Given the description of an element on the screen output the (x, y) to click on. 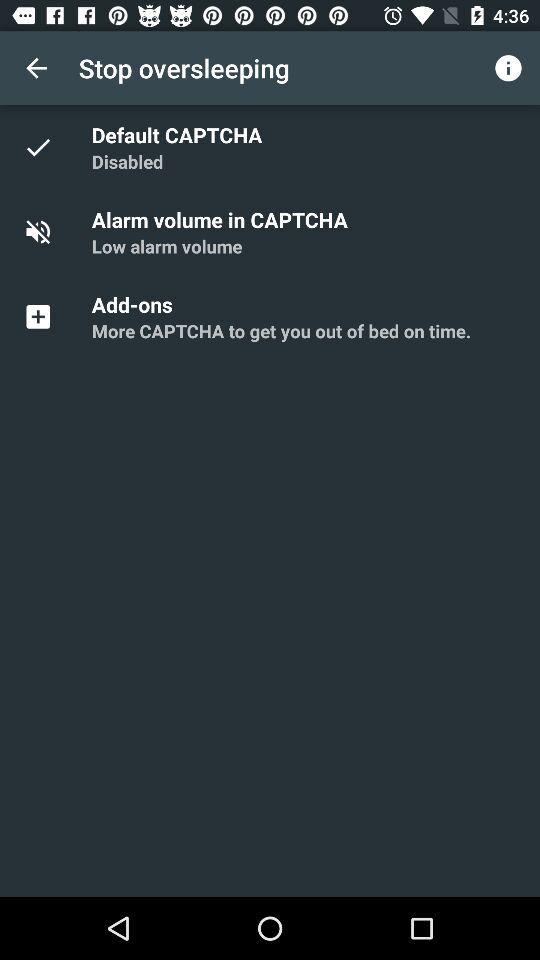
turn off the item above alarm volume in icon (127, 161)
